Given the description of an element on the screen output the (x, y) to click on. 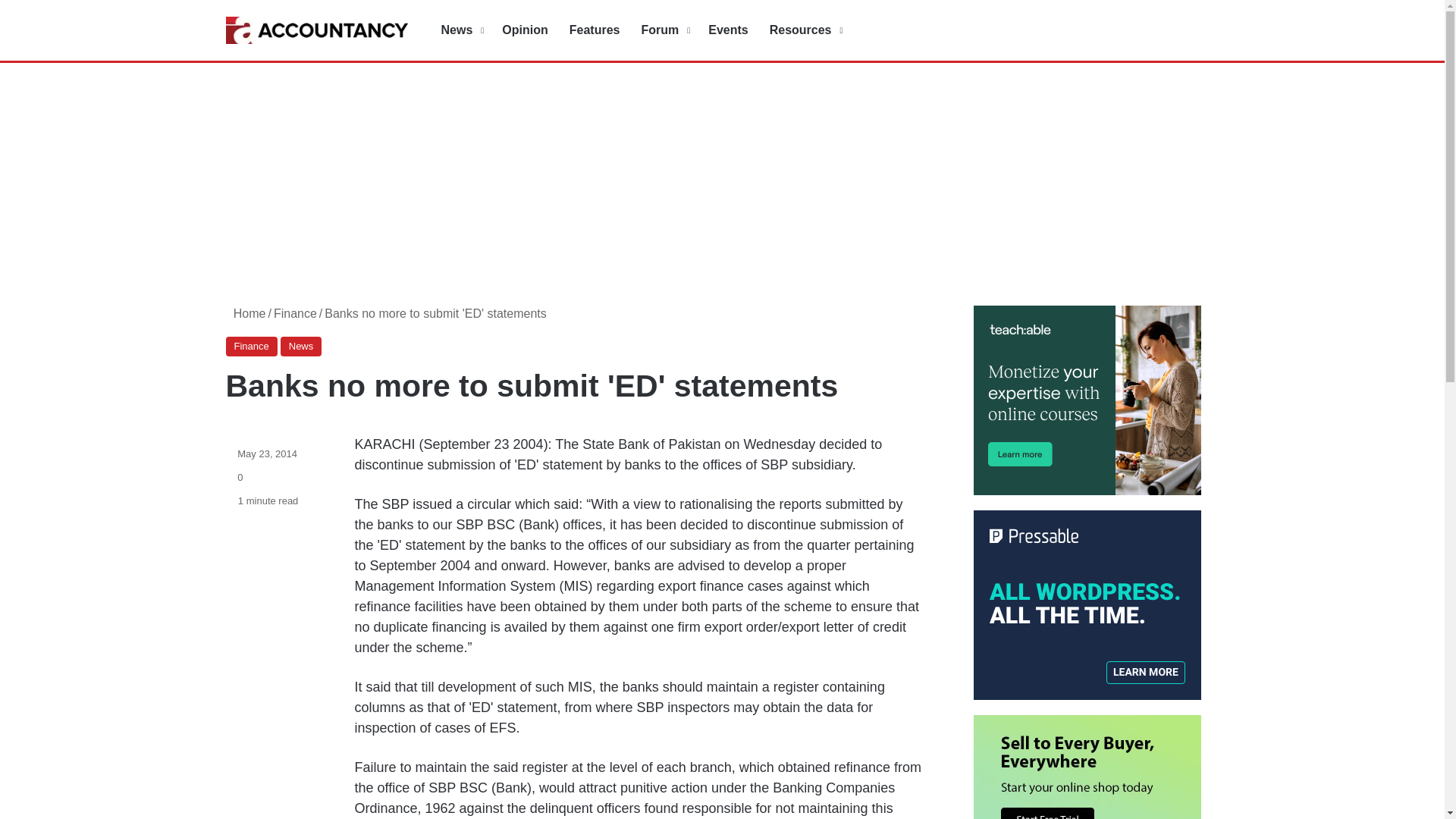
Launch a Course and Teach Online (1087, 400)
Events (727, 30)
Accountancy (316, 30)
Resources (804, 30)
Managed Wordpress Hosting for your Business (1087, 605)
News (461, 30)
Opinion (524, 30)
Features (594, 30)
Forum (663, 30)
